Given the description of an element on the screen output the (x, y) to click on. 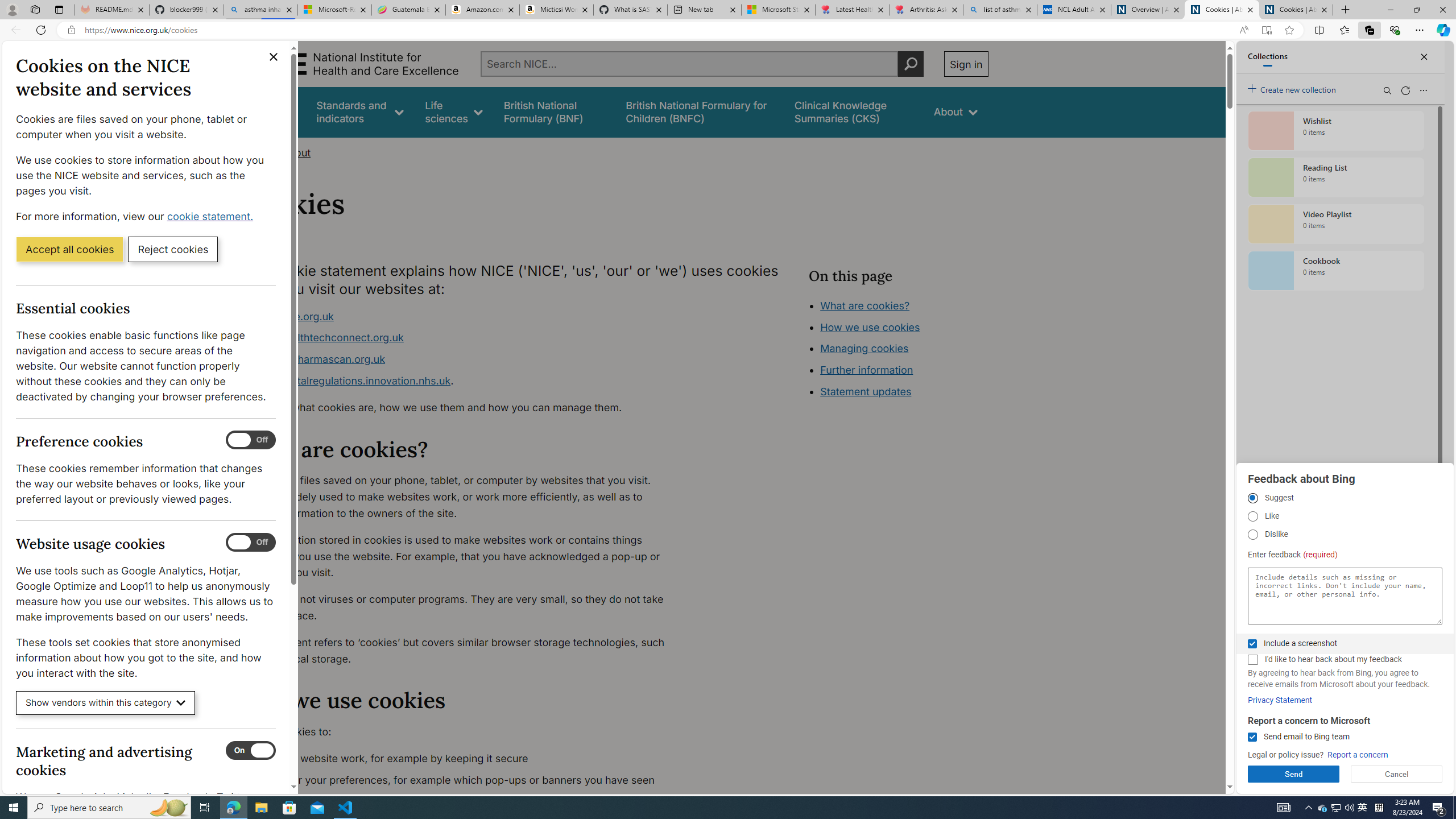
asthma inhaler - Search (260, 9)
Perform search (909, 63)
Class: in-page-nav__list (898, 349)
